Given the description of an element on the screen output the (x, y) to click on. 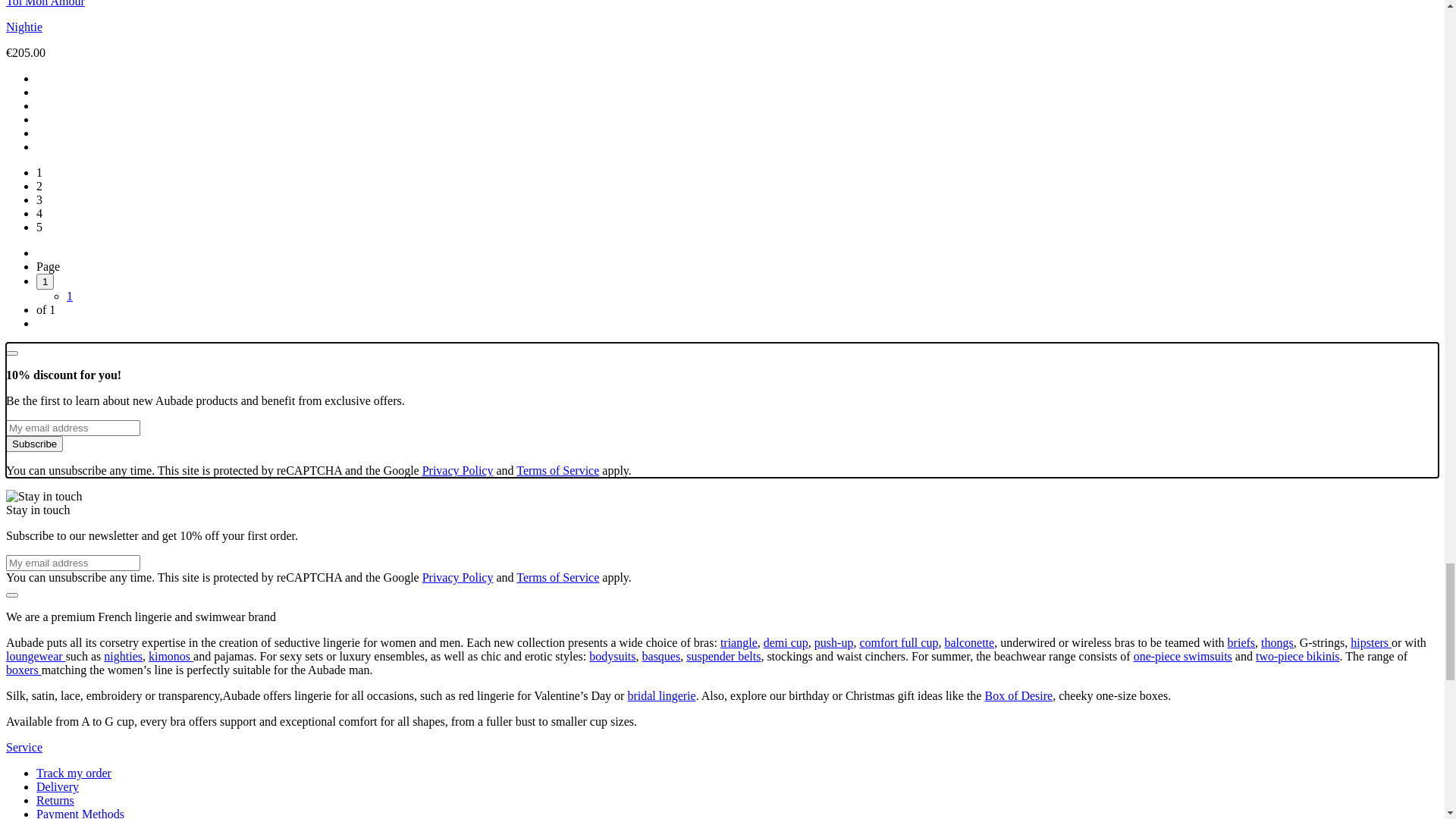
High-waisted briefs Element type: text (145, 464)
Bras Element type: text (77, 177)
Push-up bras Element type: text (128, 231)
Waist cinchers & suspender belts Element type: text (177, 559)
Shorties Element type: text (116, 409)
Balconette bras Element type: text (134, 245)
Show all Element type: text (87, 163)
Best-sellers Element type: text (125, 586)
Brazilian briefs - Invisible back Element type: text (174, 450)
Stockings, garters & accessories Element type: text (175, 545)
Demi bras Element type: text (122, 218)
Exceptional lingerie Element type: text (145, 614)
Lingerie Element type: text (56, 136)
Bralettes Element type: text (118, 327)
Show all Element type: text (118, 382)
Eco-friendly lingerie Element type: text (147, 641)
Briefs Element type: text (81, 354)
Italian briefs - Lace/embroidered back Element type: text (189, 436)
Bodys Element type: text (112, 518)
Selection Element type: text (89, 477)
Strapless bras Element type: text (130, 259)
Thongs Element type: text (115, 395)
Basques Element type: text (117, 532)
Full bust bras Element type: text (130, 313)
Black Friday Element type: text (67, 81)
Mini-coeur briefs - Low-waisted Element type: text (176, 423)
Show all Element type: text (118, 204)
Sexy lingerie Element type: text (129, 627)
Bridal lingerie Element type: text (132, 600)
Show all Element type: text (118, 504)
Triangle bras Element type: text (128, 286)
Bustiers Element type: text (116, 341)
ELIE SAAB x Aubade Element type: text (91, 109)
Christmas Shop Element type: text (74, 95)
Wireless bras Element type: text (129, 272)
New arrivals Element type: text (67, 122)
Show all Element type: text (118, 655)
T-shirt bras Element type: text (124, 300)
